Given the description of an element on the screen output the (x, y) to click on. 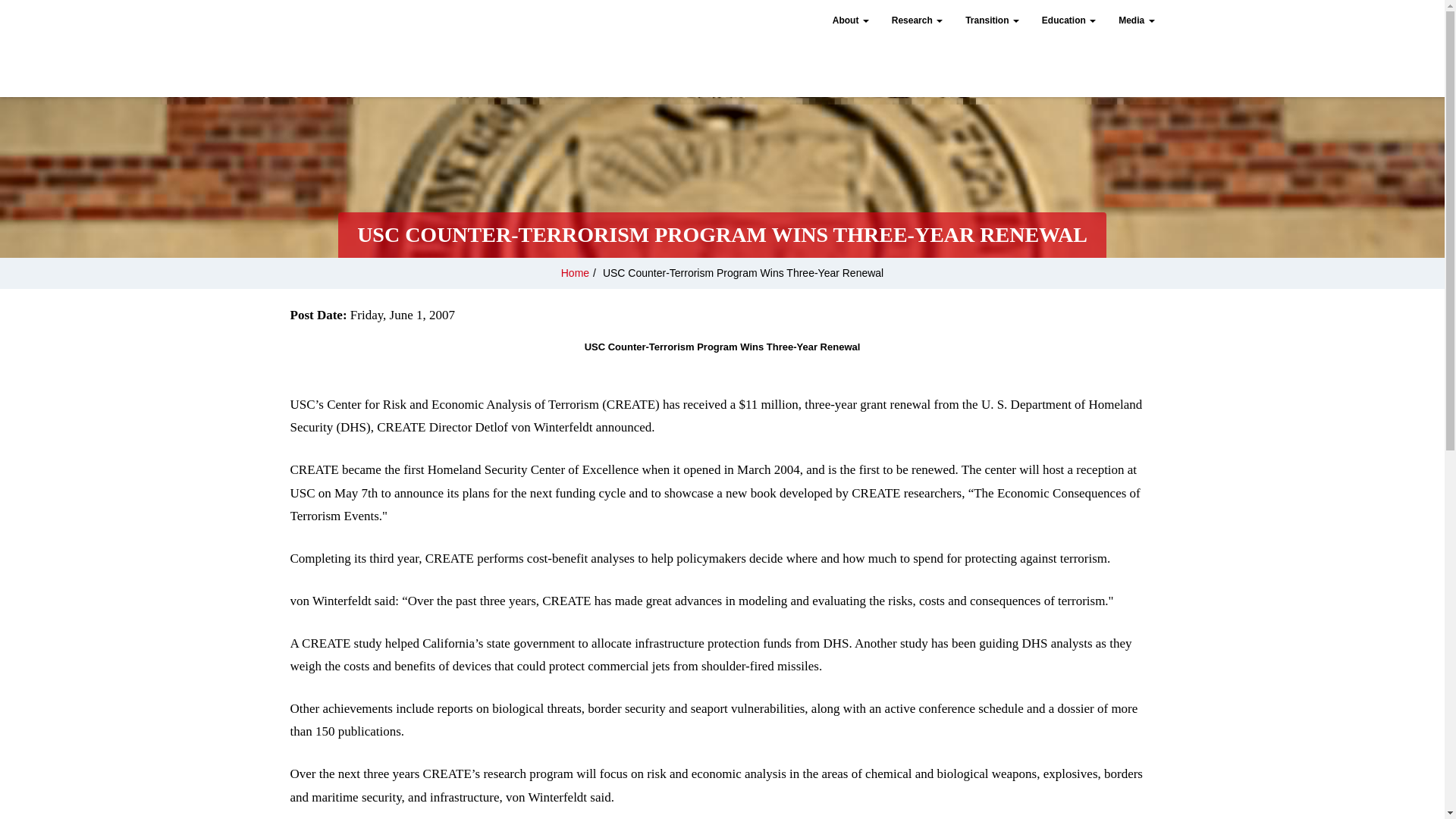
Research (916, 21)
About (850, 21)
Transition (991, 21)
Education (1068, 21)
CREATE (400, 43)
Transition (991, 21)
About (850, 21)
Research (916, 21)
Media (1136, 21)
Education (1068, 21)
